Given the description of an element on the screen output the (x, y) to click on. 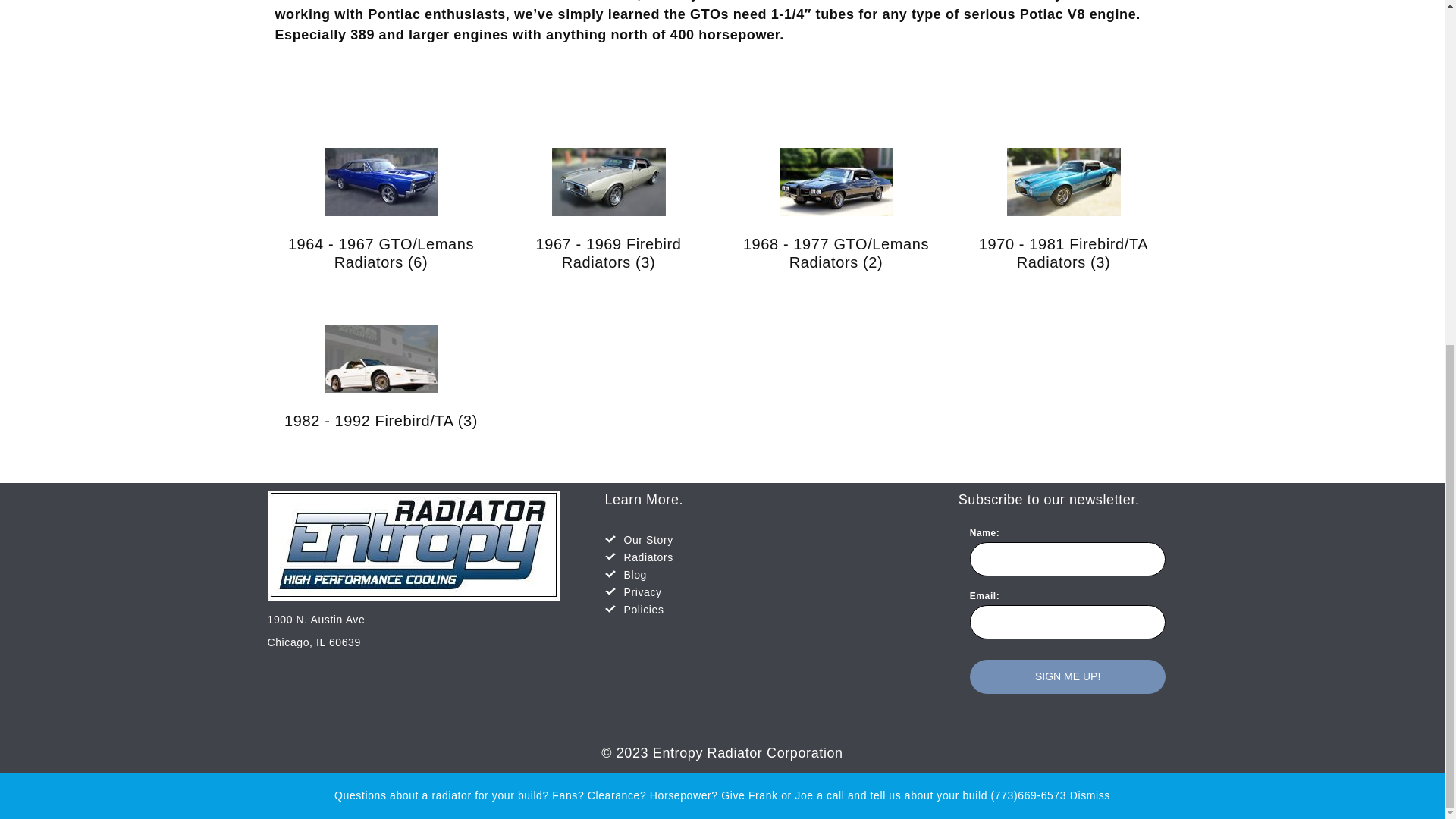
Chicago, IL 60639 (312, 642)
1900 N. Austin Ave (315, 619)
Sign me up! (1067, 676)
Our Story (647, 539)
